Given the description of an element on the screen output the (x, y) to click on. 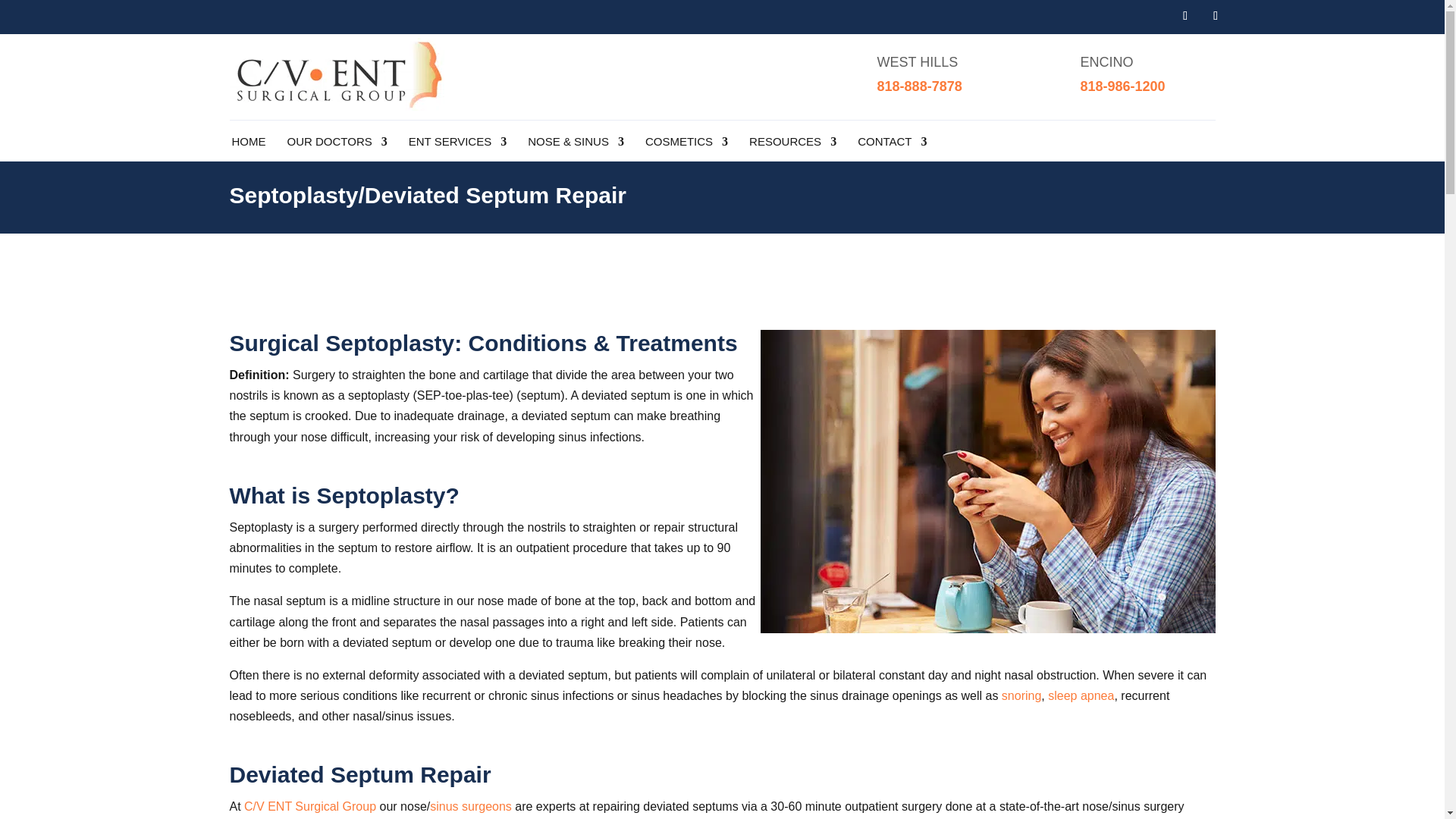
HOME (248, 144)
cvsurgical-logo (336, 106)
Follow on Facebook (1184, 15)
818-888-7878 (919, 86)
818-986-1200 (1122, 86)
COSMETICS (686, 144)
OUR DOCTORS (336, 144)
Follow on Instagram (1215, 15)
ENT SERVICES (457, 144)
